Given the description of an element on the screen output the (x, y) to click on. 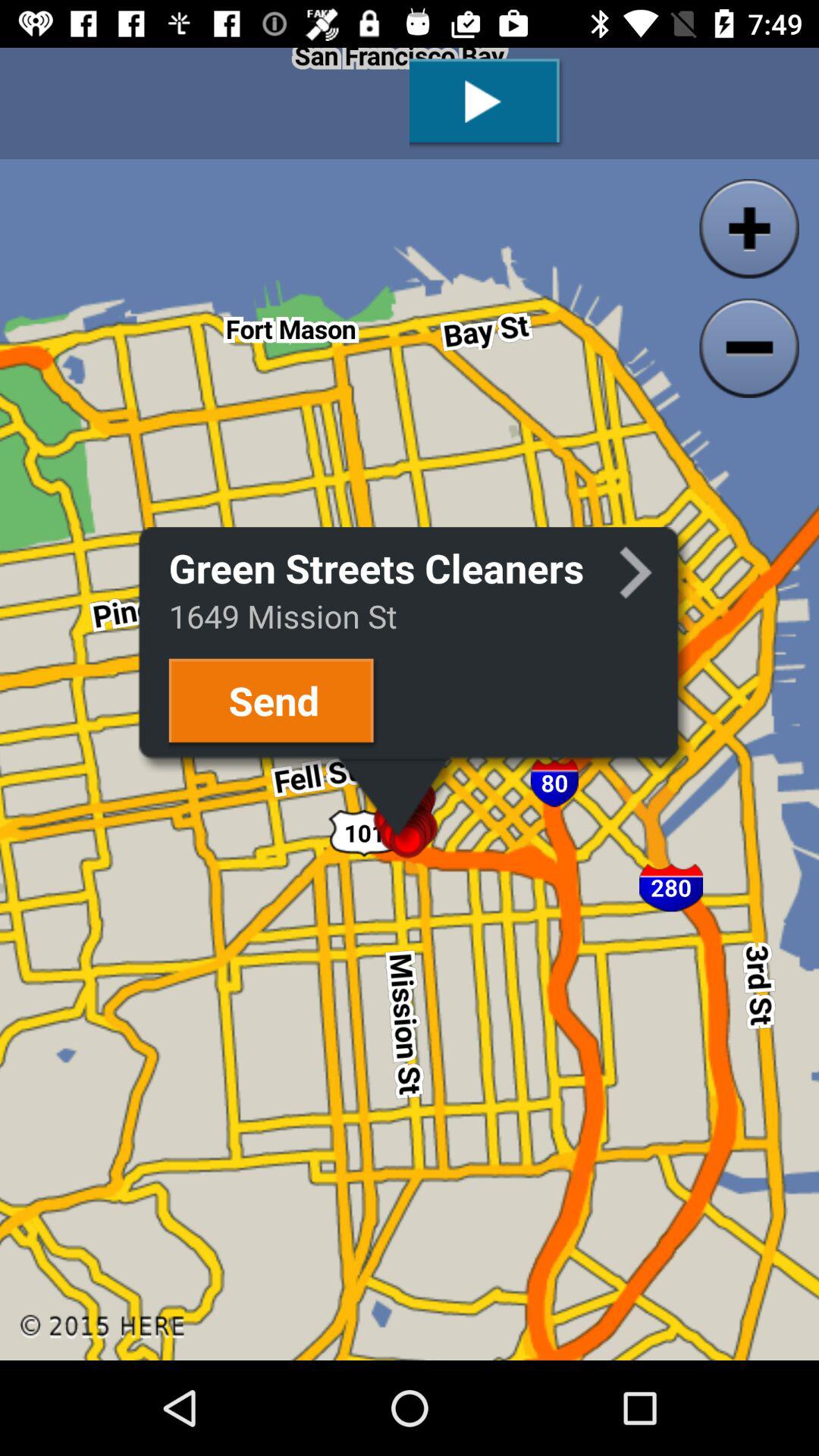
swipe to send (273, 703)
